Given the description of an element on the screen output the (x, y) to click on. 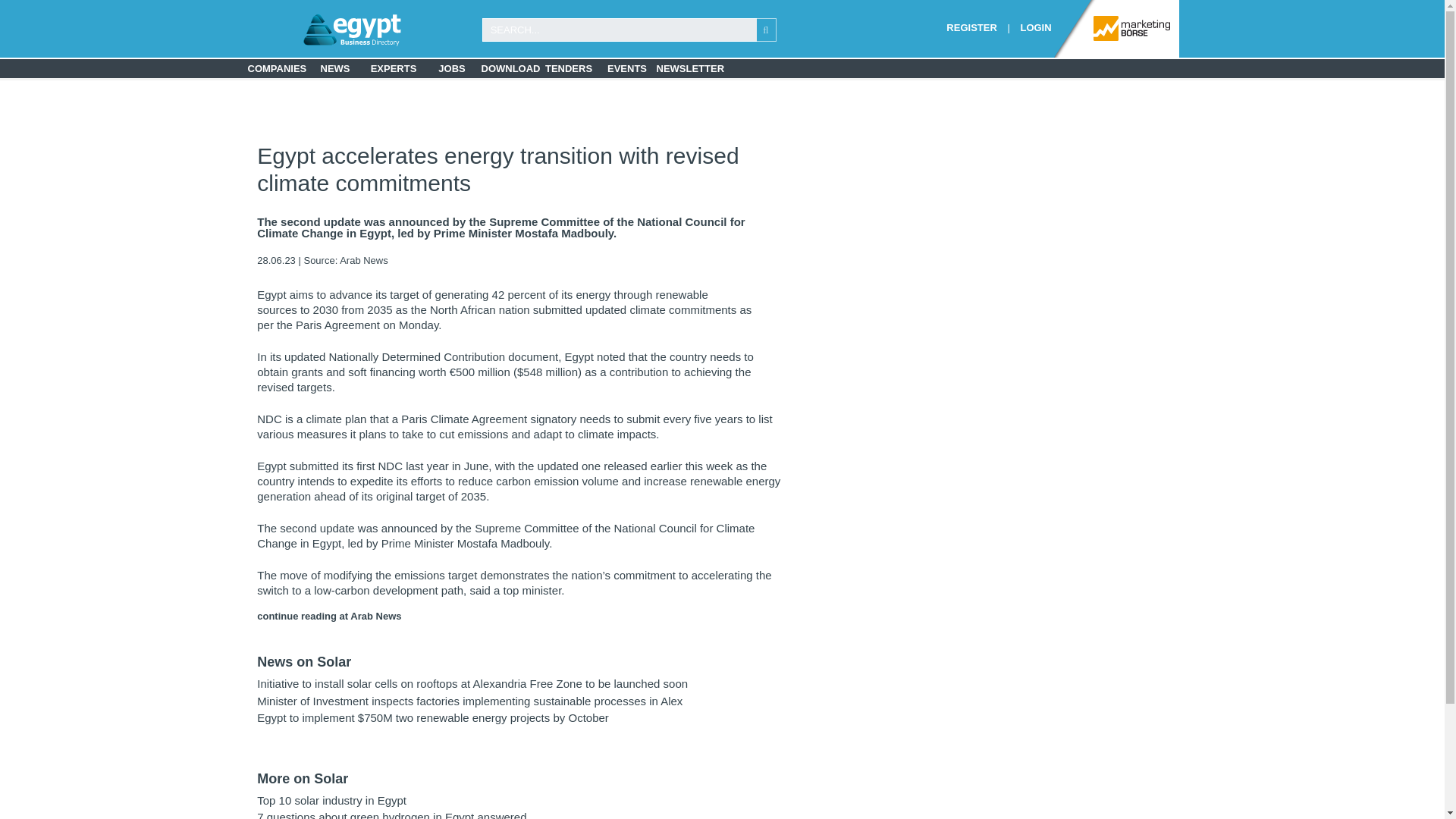
More on Solar (302, 777)
News on Solar (303, 661)
EVENTS (626, 67)
COMPANIES (276, 67)
www.marketing-boerse.de (1116, 27)
Top 10 solar industry in Egypt (331, 799)
JOBS (452, 67)
7 questions about green hydrogen in Egypt answered (391, 814)
EXPERTS (393, 67)
DOWNLOADS (509, 67)
NEWSLETTER (685, 67)
LOGIN (1035, 27)
egypt-business.com (312, 30)
REGISTER (970, 27)
